Given the description of an element on the screen output the (x, y) to click on. 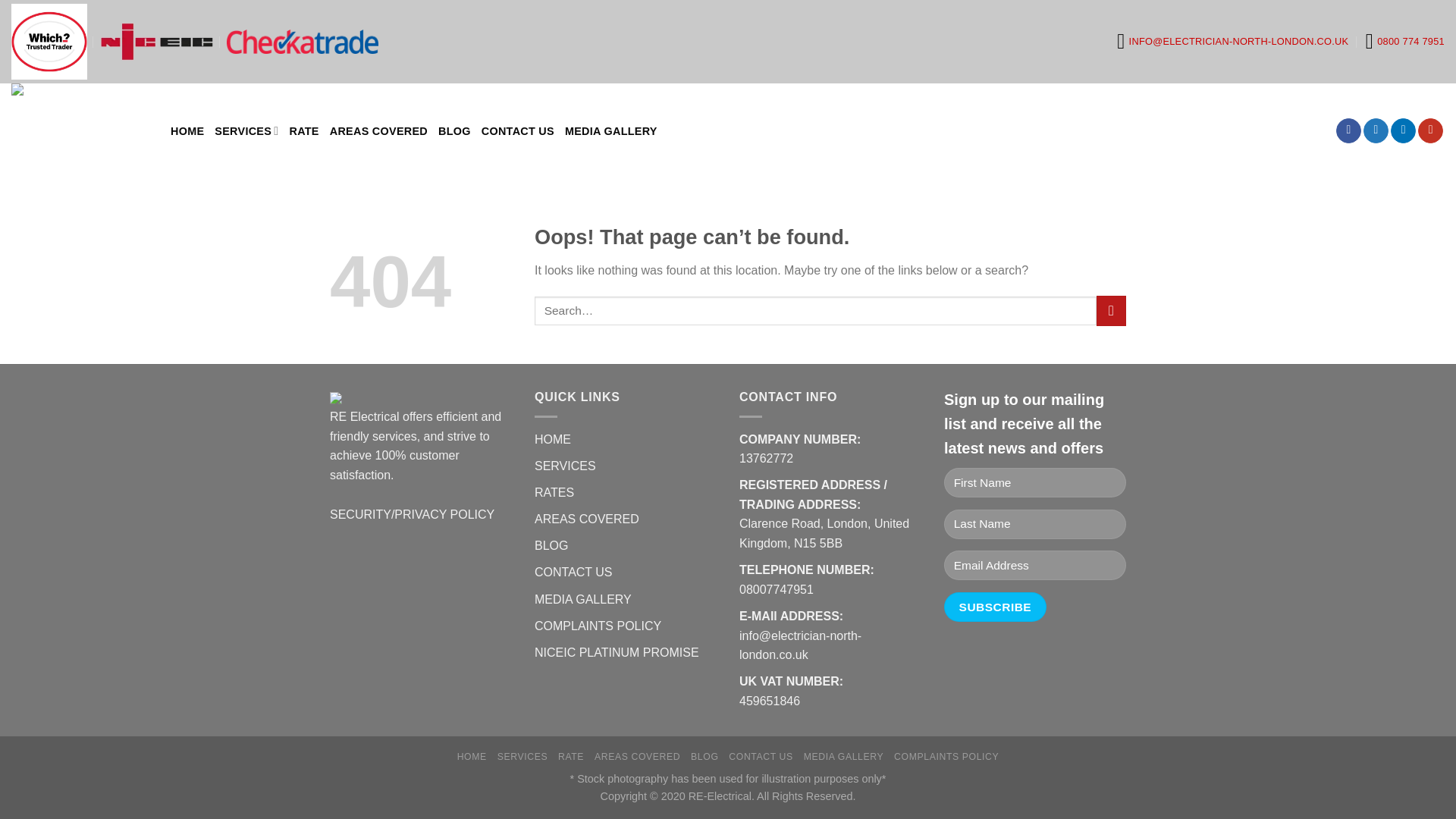
Follow on Facebook (1348, 130)
0800 774 7951 (1404, 41)
COMPLAINTS POLICY (597, 625)
Subscribe (994, 606)
MEDIA GALLERY (611, 130)
RATE (570, 756)
BLOG (454, 130)
HOME (471, 756)
SERVICES (522, 756)
Follow on LinkedIn (1402, 130)
